Given the description of an element on the screen output the (x, y) to click on. 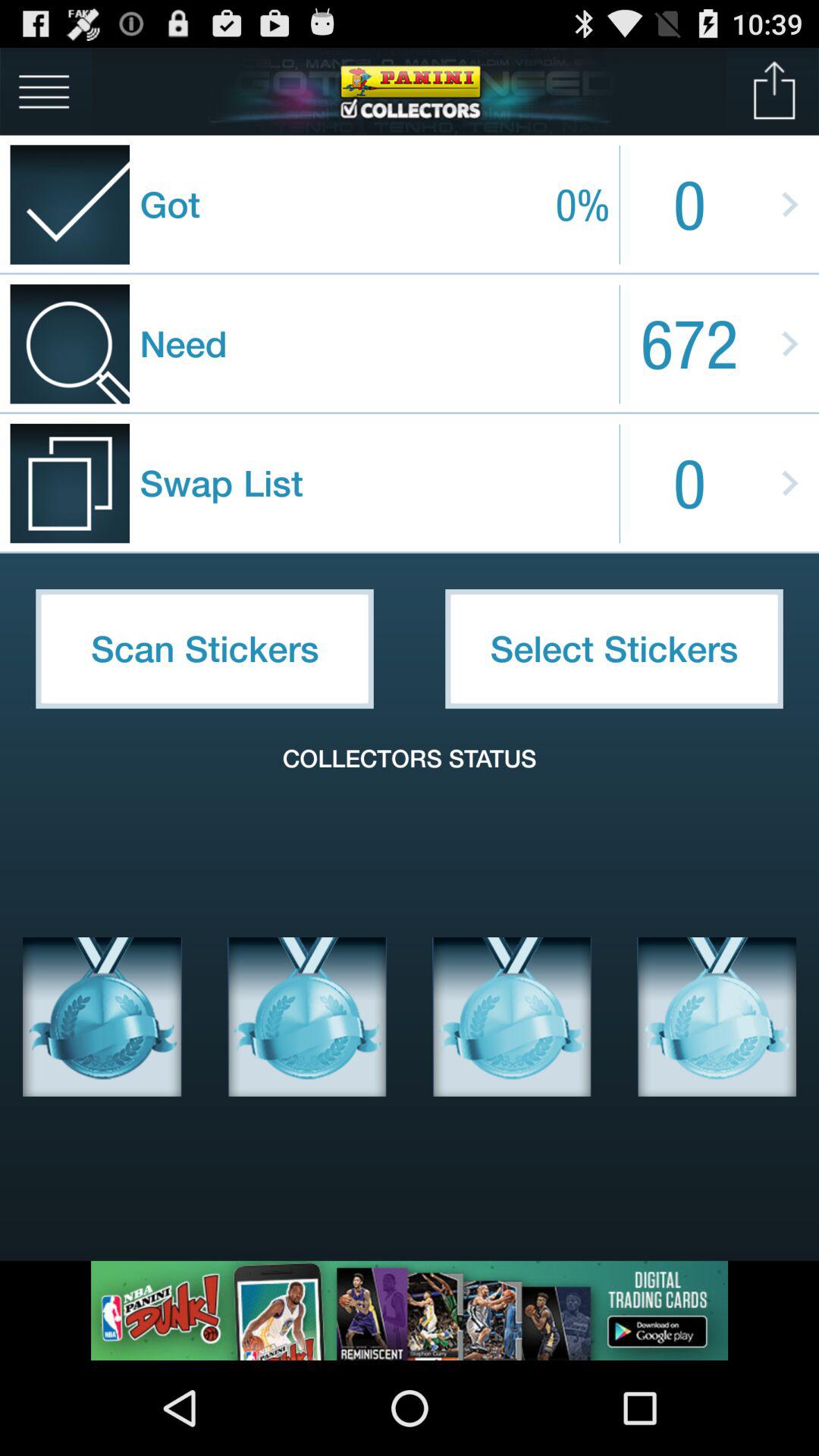
upload image (774, 91)
